Given the description of an element on the screen output the (x, y) to click on. 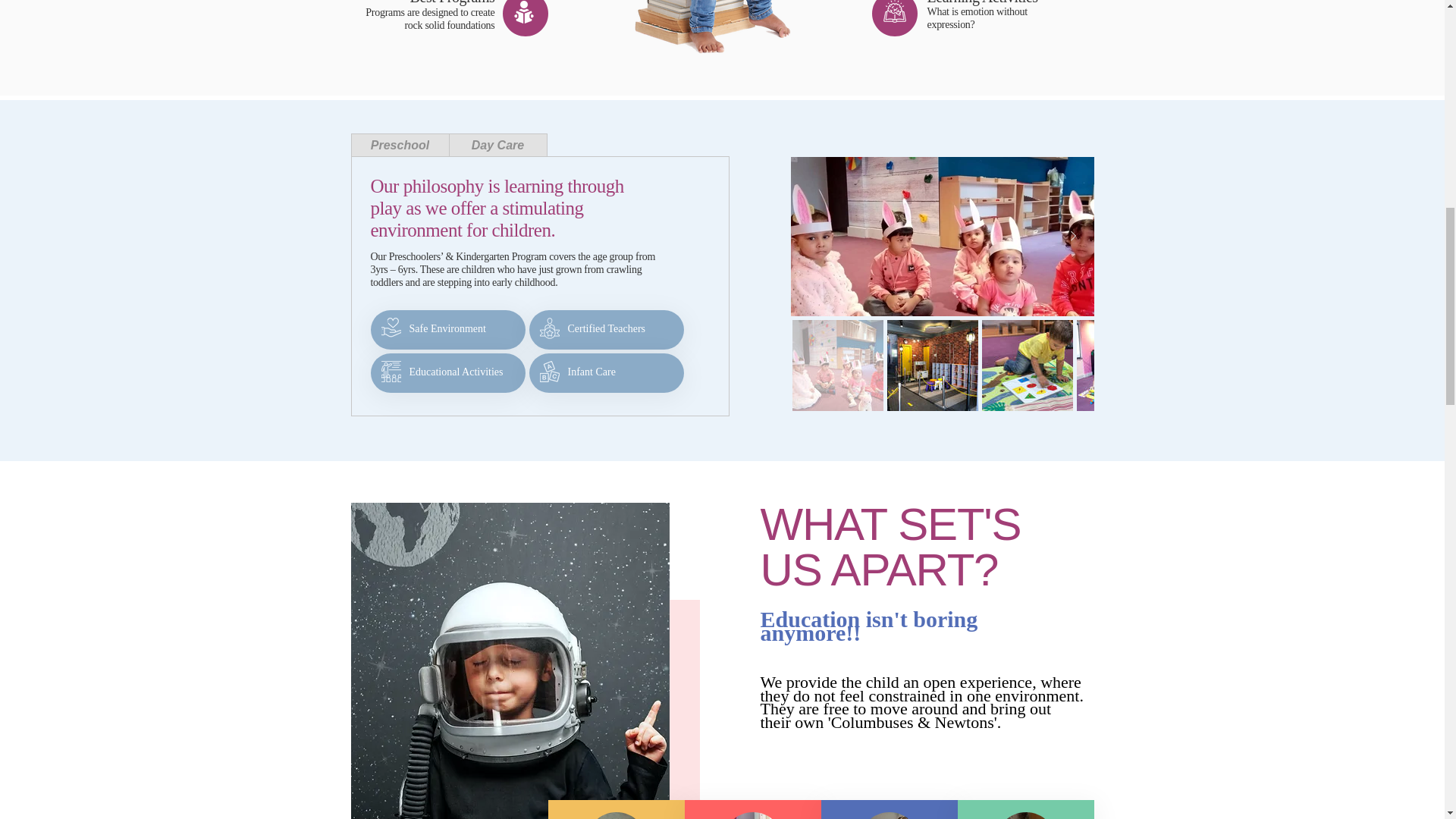
AZ Kid.jpg (549, 328)
teacher-asking-question-her-class.jpg (615, 815)
Day Care (497, 145)
Preschool (399, 145)
AZ Kid.jpg (390, 371)
teacher-asking-question-her-class.jpg (888, 815)
book.png (893, 11)
teacher-asking-question-her-class.jpg (752, 815)
book.png (523, 11)
AZ Kid.jpg (390, 328)
teacher-asking-question-her-class.jpg (1024, 815)
AZ Kid.jpg (549, 371)
